Given the description of an element on the screen output the (x, y) to click on. 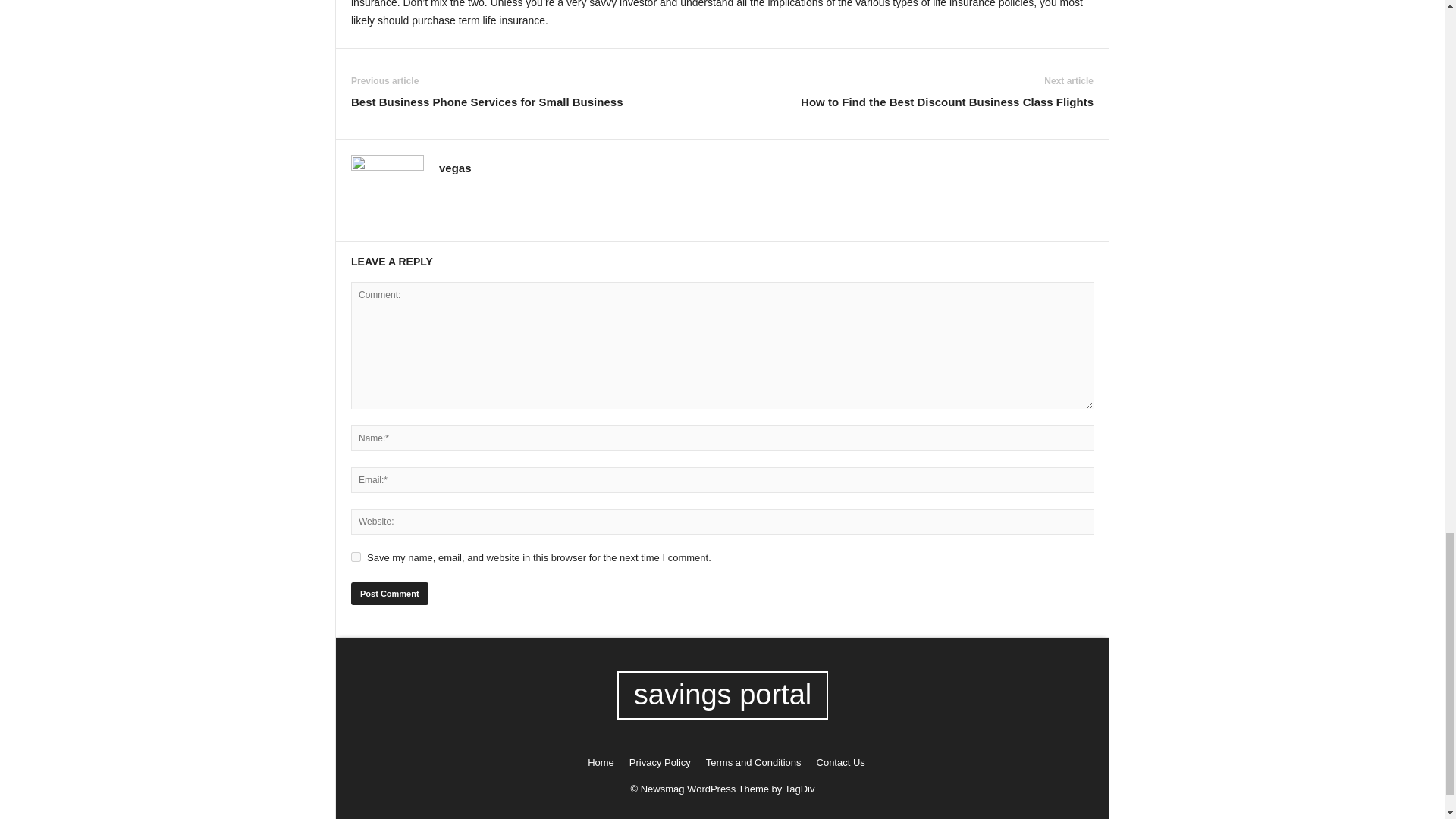
Home (600, 762)
Best Business Phone Services for Small Business (486, 101)
yes (355, 556)
How to Find the Best Discount Business Class Flights (946, 101)
Privacy Policy (659, 762)
Post Comment (389, 593)
Contact Us (836, 762)
Post Comment (389, 593)
savings portal (722, 694)
Terms and Conditions (753, 762)
vegas (455, 167)
